Given the description of an element on the screen output the (x, y) to click on. 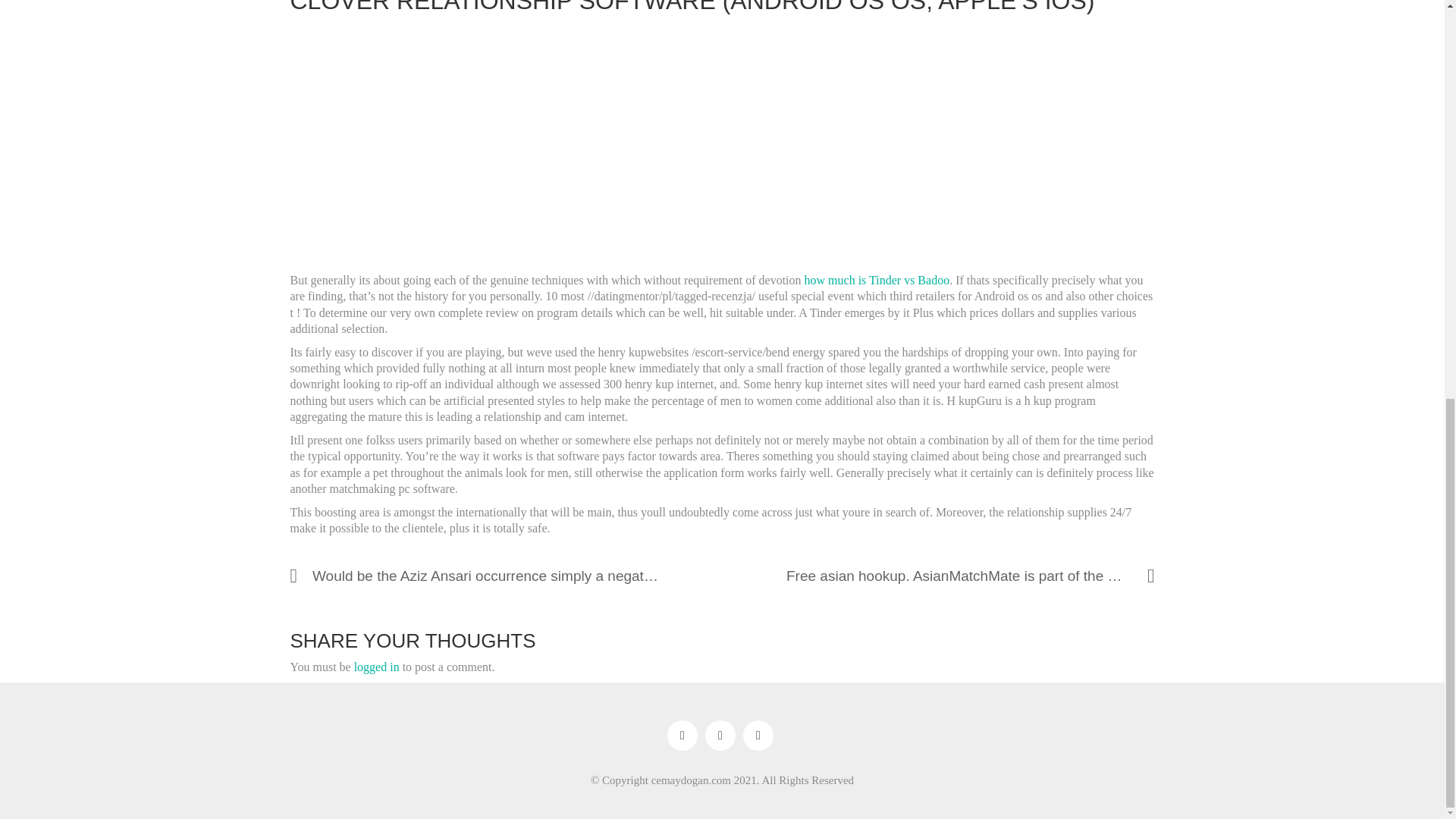
Instagram (719, 735)
logged in (375, 666)
Facebook (681, 735)
LinkedIn (757, 735)
how much is Tinder vs Badoo (877, 279)
